Given the description of an element on the screen output the (x, y) to click on. 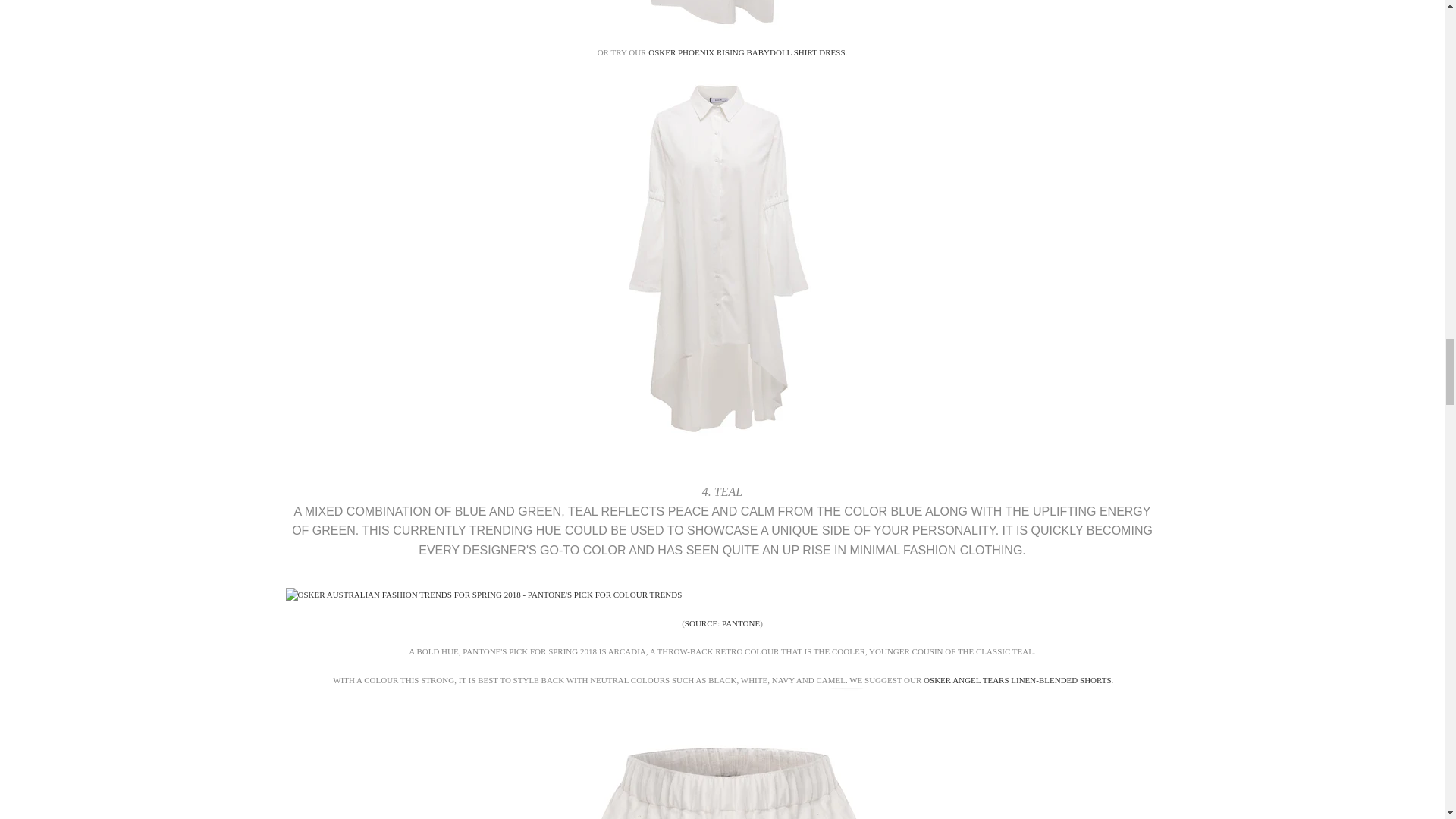
SOURCE: PANTONE (722, 623)
OSKER ANGEL TEARS LINEN-BLENDED SHORTS (1016, 679)
OSKER PHOENIX RISING BABYDOLL SHIRT DRESS (745, 51)
